Given the description of an element on the screen output the (x, y) to click on. 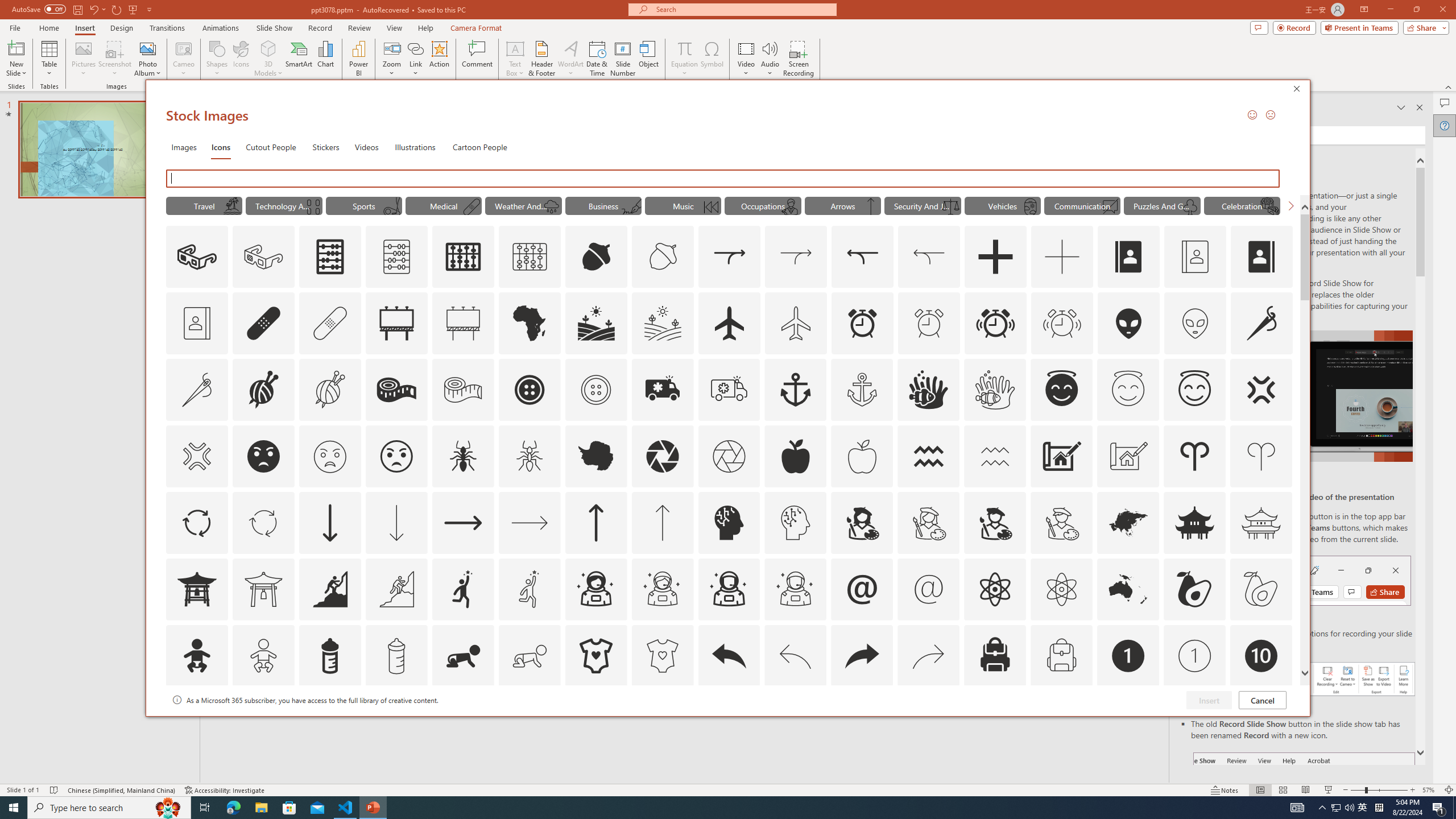
AutomationID: Icons_ArrowRight (462, 522)
AutomationID: Icons_Atom (995, 588)
AutomationID: Icons_AdhesiveBandage (263, 323)
AutomationID: Icons_Avocado (1194, 588)
AutomationID: Icons_AdhesiveBandage_M (330, 323)
